Given the description of an element on the screen output the (x, y) to click on. 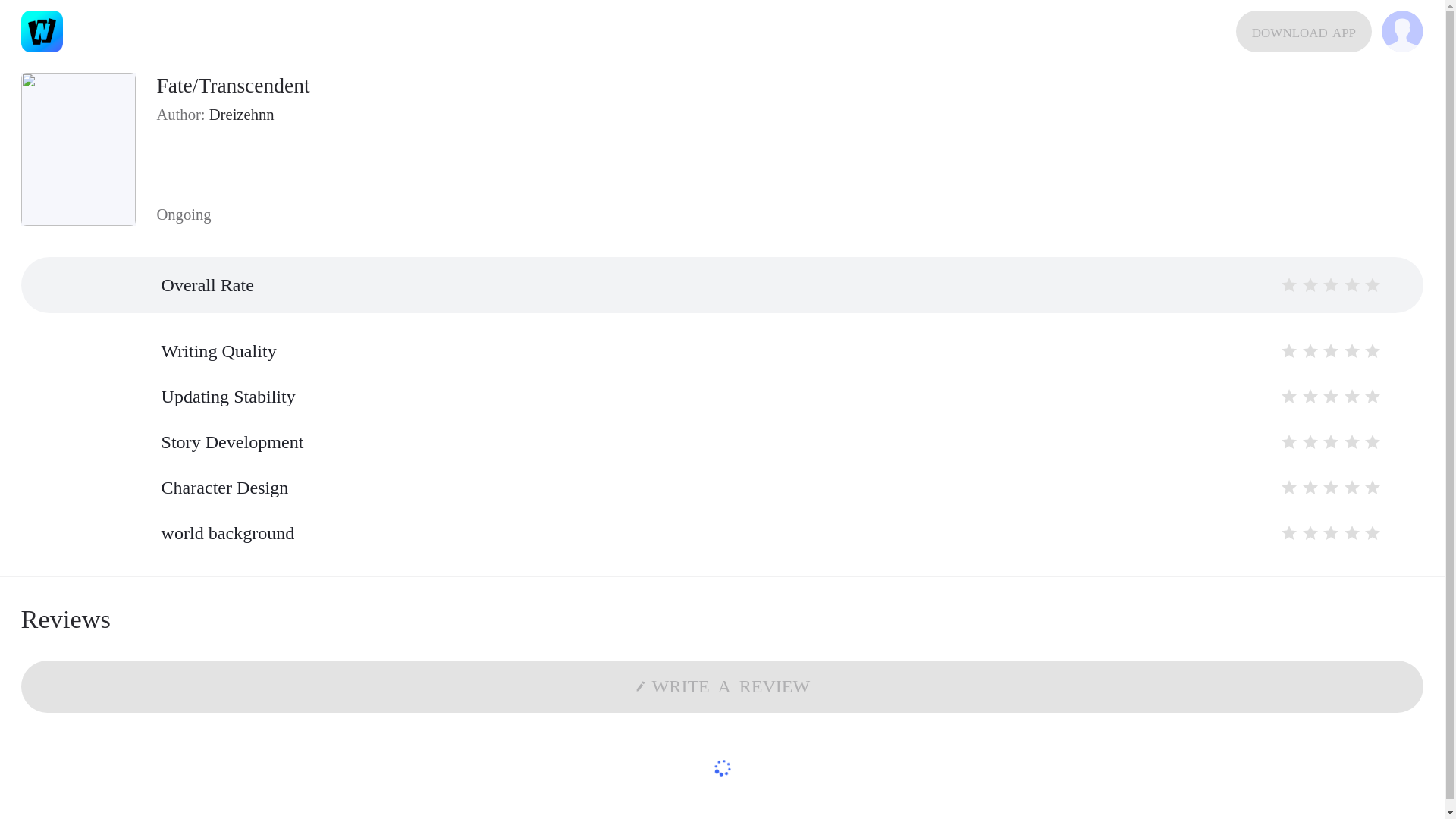
WRITE  A  REVIEW (722, 686)
download app (1303, 31)
Webnovel (41, 31)
